Given the description of an element on the screen output the (x, y) to click on. 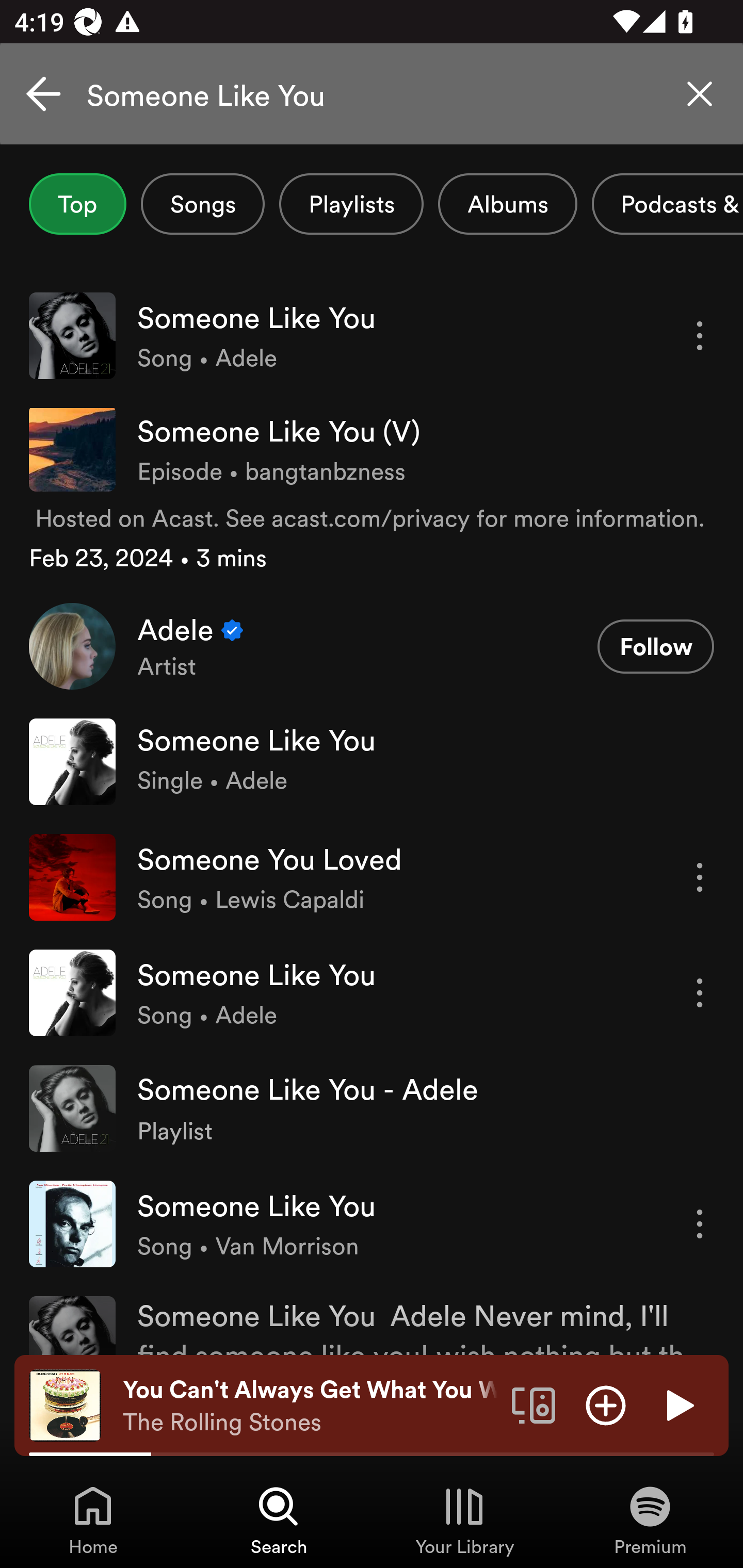
Someone Like You (371, 93)
Cancel (43, 93)
Clear search query (699, 93)
Top (77, 203)
Songs (202, 203)
Playlists (351, 203)
Albums (507, 203)
Podcasts & Shows (667, 203)
More options for song Someone Like You (699, 336)
Adele Verified Artist Follow Follow (371, 646)
Follow (655, 646)
Someone Like You Single • Adele (371, 762)
More options for song Someone You Loved (699, 877)
More options for song Someone Like You (699, 993)
Someone Like You - Adele Playlist (371, 1108)
More options for song Someone Like You (699, 1223)
The cover art of the currently playing track (64, 1404)
Connect to a device. Opens the devices menu (533, 1404)
Add item (605, 1404)
Play (677, 1404)
Home, Tab 1 of 4 Home Home (92, 1519)
Search, Tab 2 of 4 Search Search (278, 1519)
Your Library, Tab 3 of 4 Your Library Your Library (464, 1519)
Premium, Tab 4 of 4 Premium Premium (650, 1519)
